Given the description of an element on the screen output the (x, y) to click on. 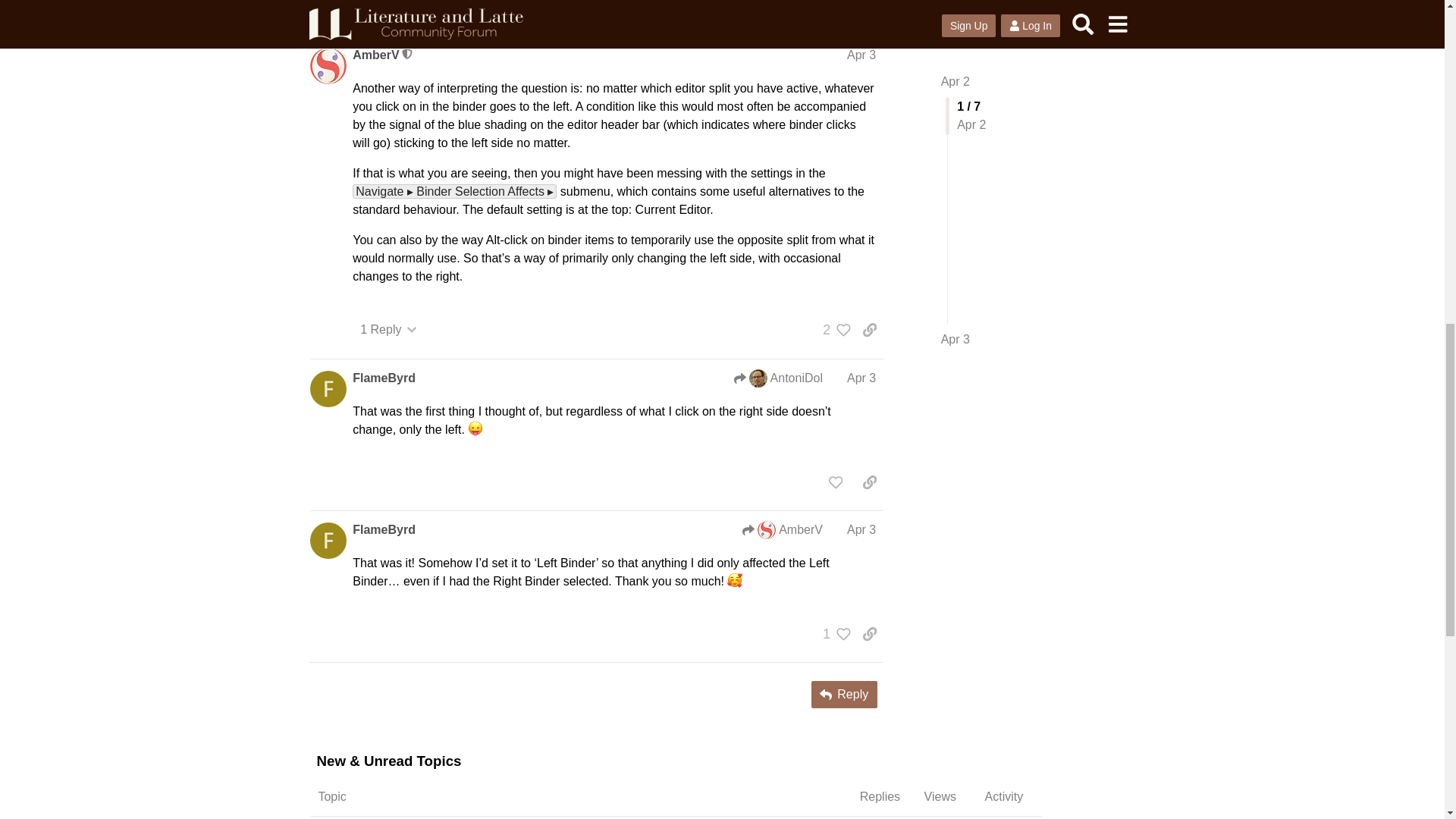
AmberV (375, 54)
1 (832, 10)
Apr 3 (861, 54)
1 Reply (387, 329)
